Given the description of an element on the screen output the (x, y) to click on. 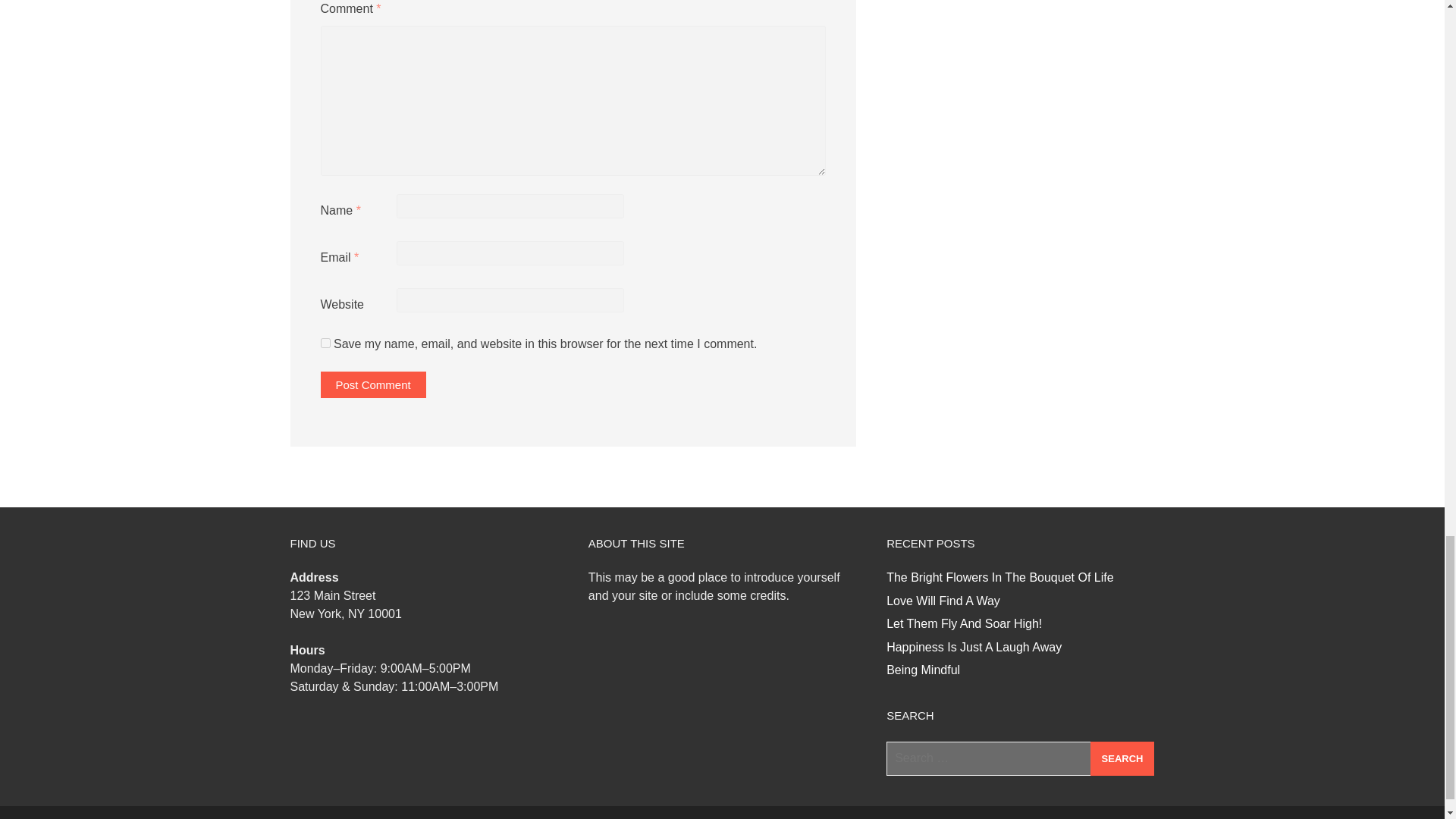
Search (1122, 758)
WordPress (966, 818)
Post Comment (372, 384)
Search (1122, 758)
Post Comment (372, 384)
yes (325, 343)
